Given the description of an element on the screen output the (x, y) to click on. 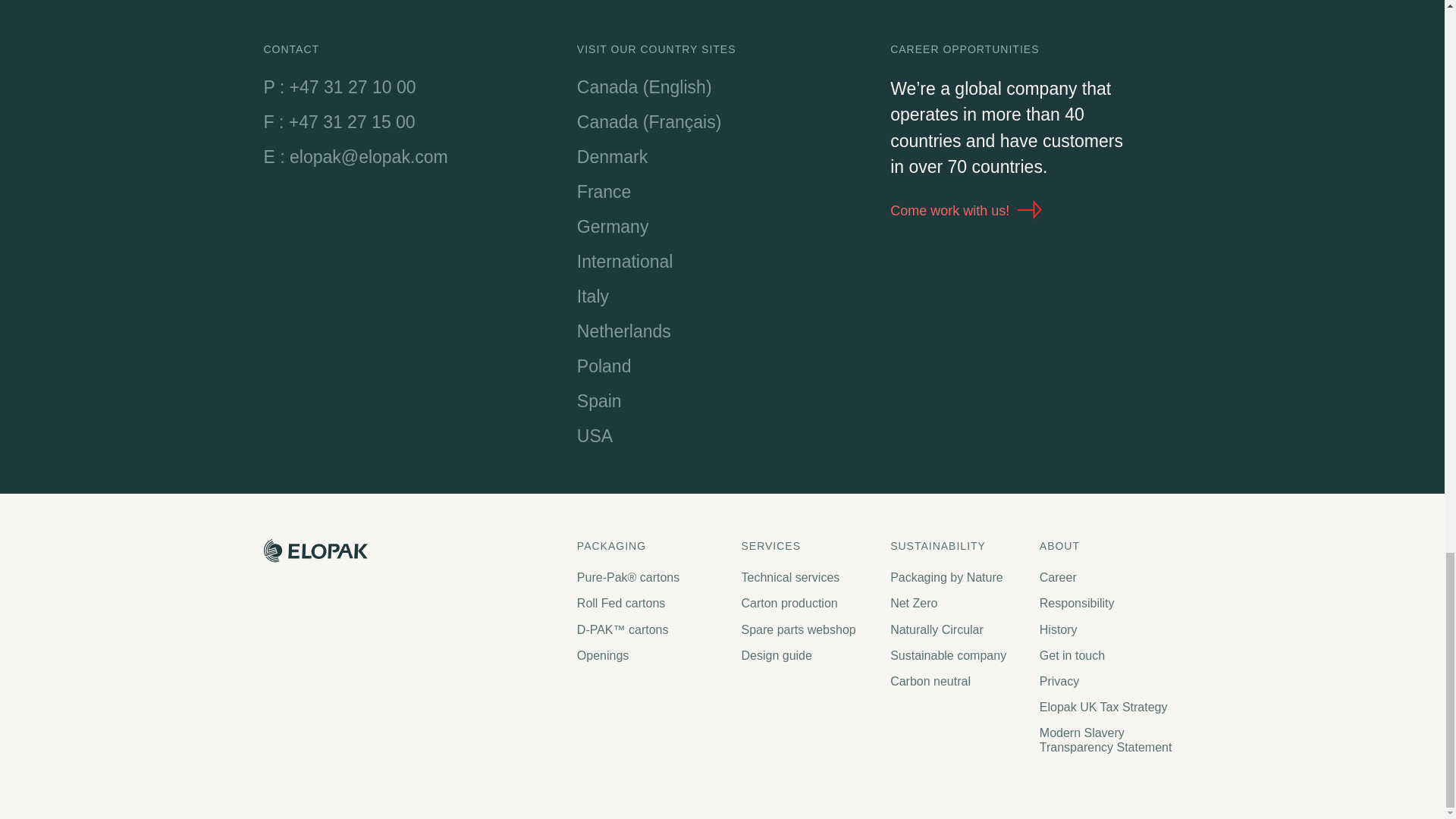
Packaging (651, 545)
Services (808, 545)
